Given the description of an element on the screen output the (x, y) to click on. 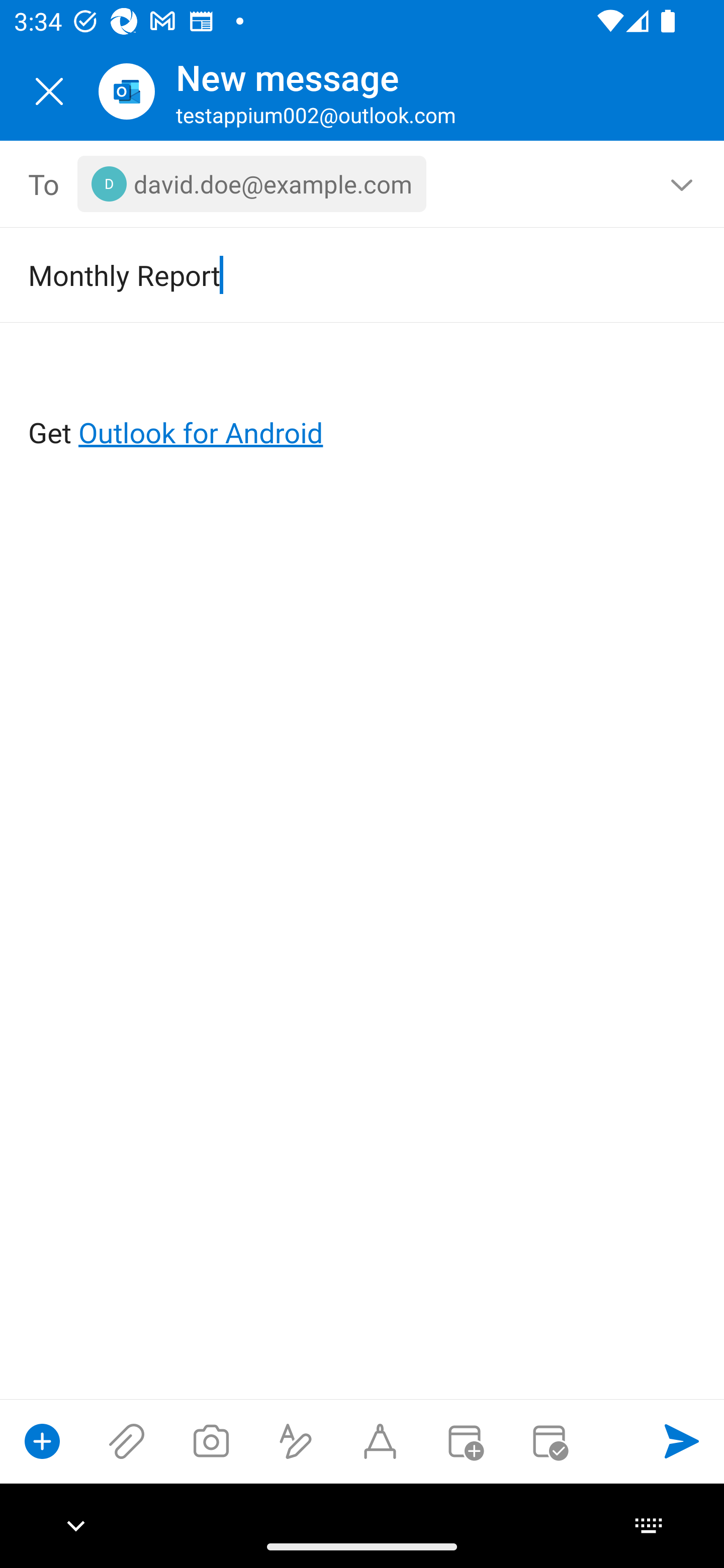
Close (49, 91)
To, 1 recipient <david.doe@example.com> (362, 184)
Monthly Report (333, 274)


Get Outlook for Android (363, 400)
Show compose options (42, 1440)
Attach files (126, 1440)
Take a photo (210, 1440)
Show formatting options (295, 1440)
Start Ink compose (380, 1440)
Convert to event (464, 1440)
Send availability (548, 1440)
Send (681, 1440)
